Given the description of an element on the screen output the (x, y) to click on. 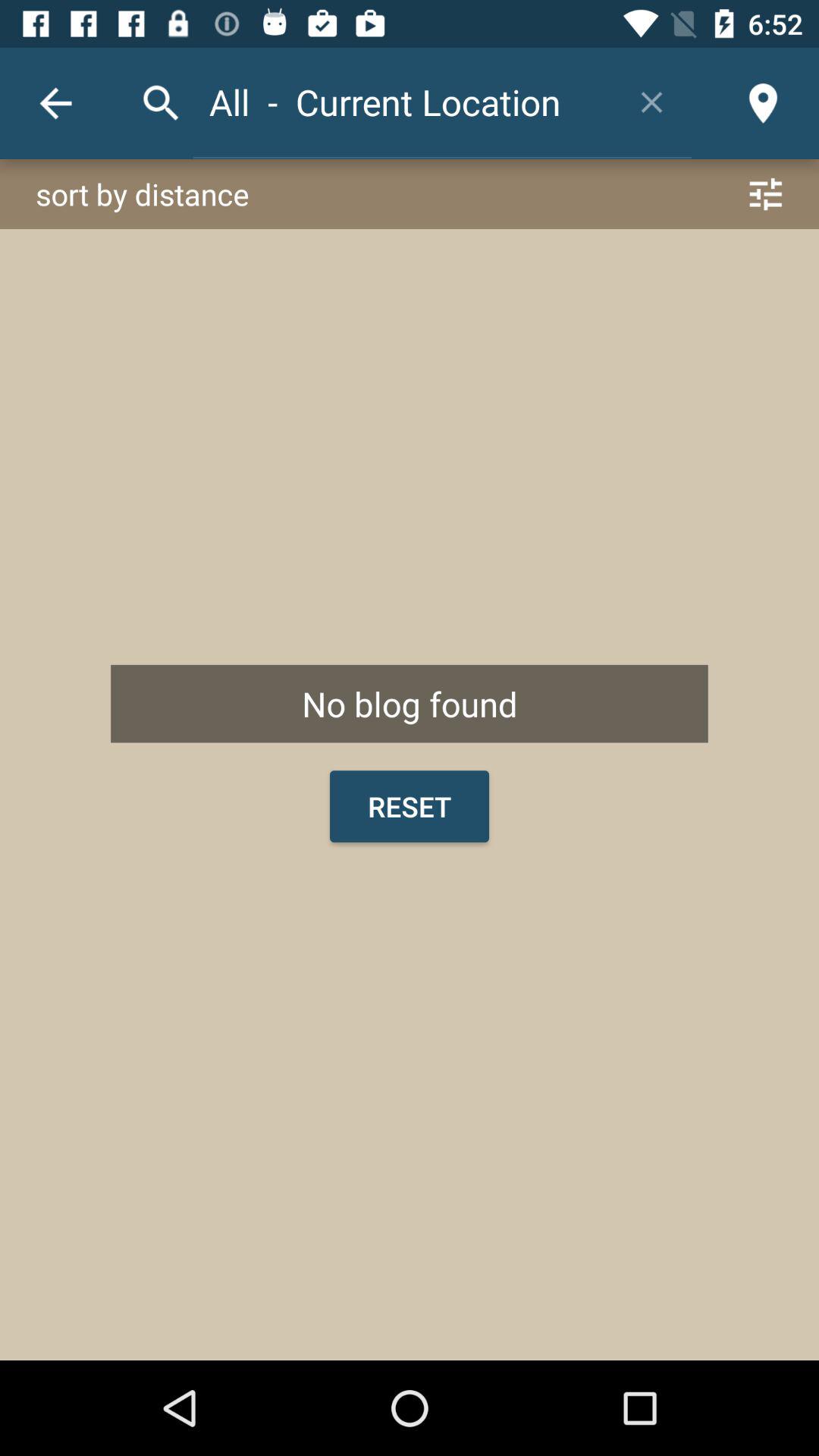
launch reset icon (409, 806)
